Given the description of an element on the screen output the (x, y) to click on. 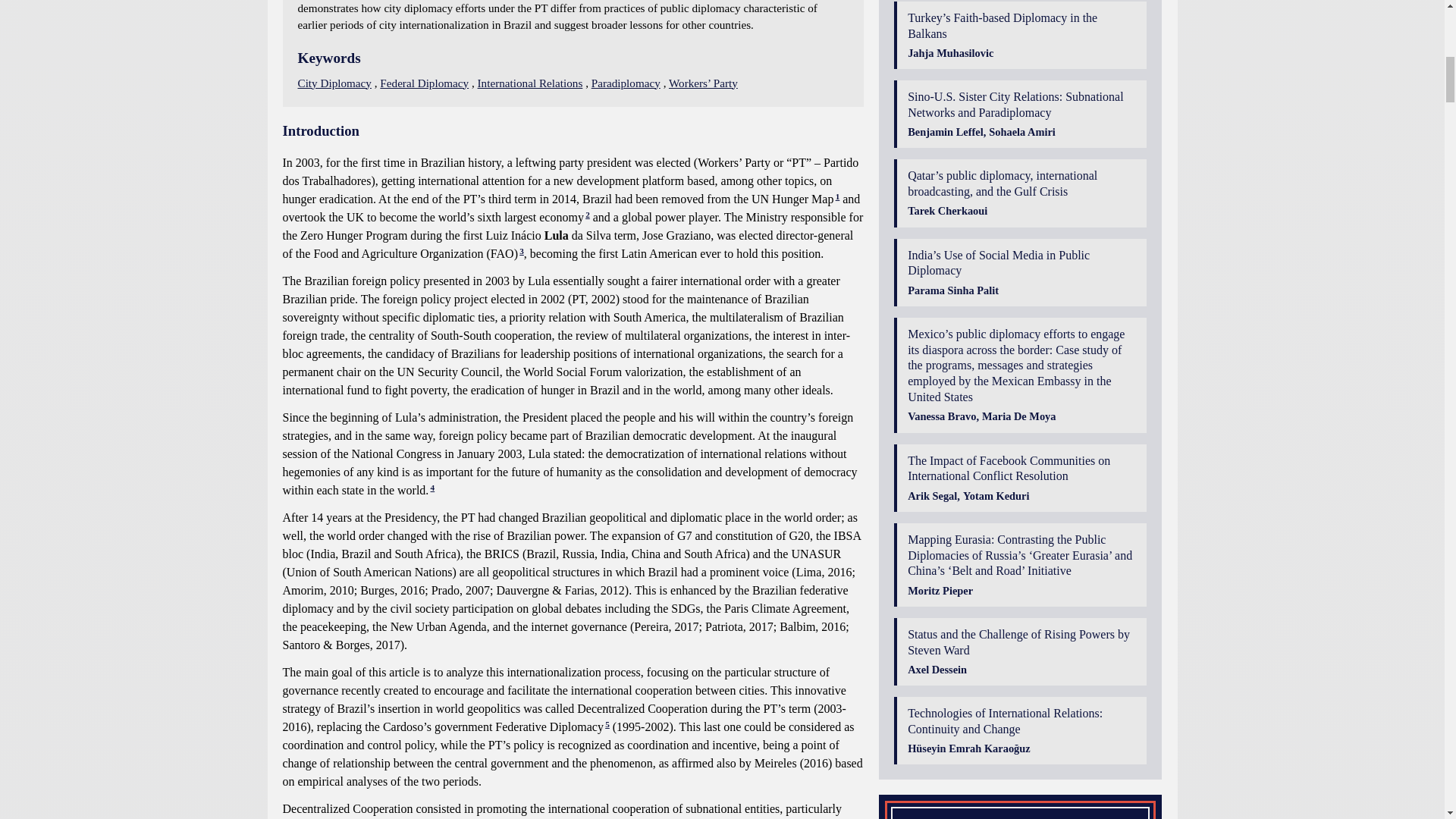
City Diplomacy (334, 82)
Federal Diplomacy (424, 82)
International Relations (530, 82)
Paradiplomacy (626, 82)
